Given the description of an element on the screen output the (x, y) to click on. 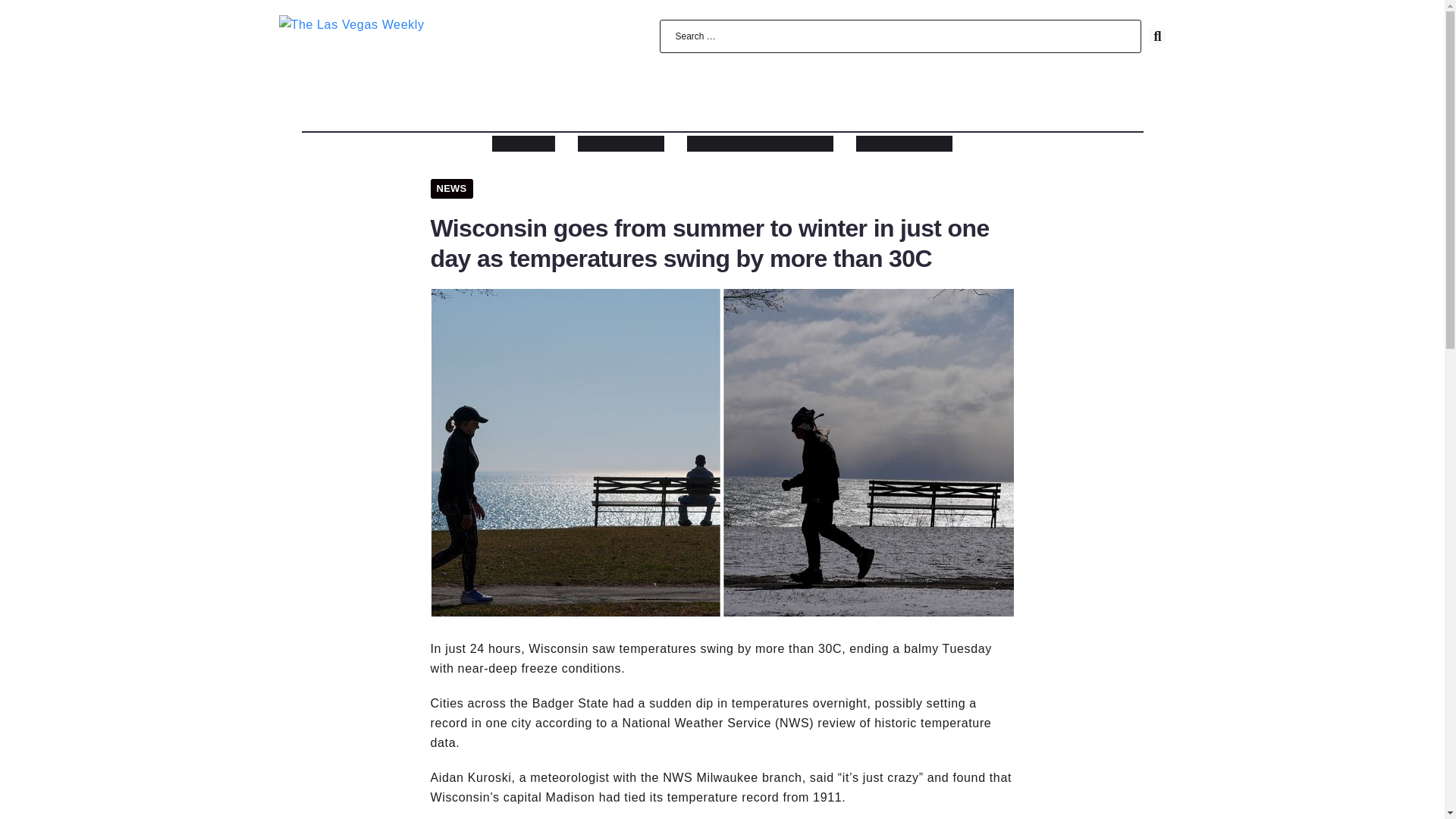
ENTREPRENEURSHIP (759, 143)
NEWS (451, 189)
HOME (523, 143)
BUSINESS (620, 143)
MARKETING (904, 143)
